Given the description of an element on the screen output the (x, y) to click on. 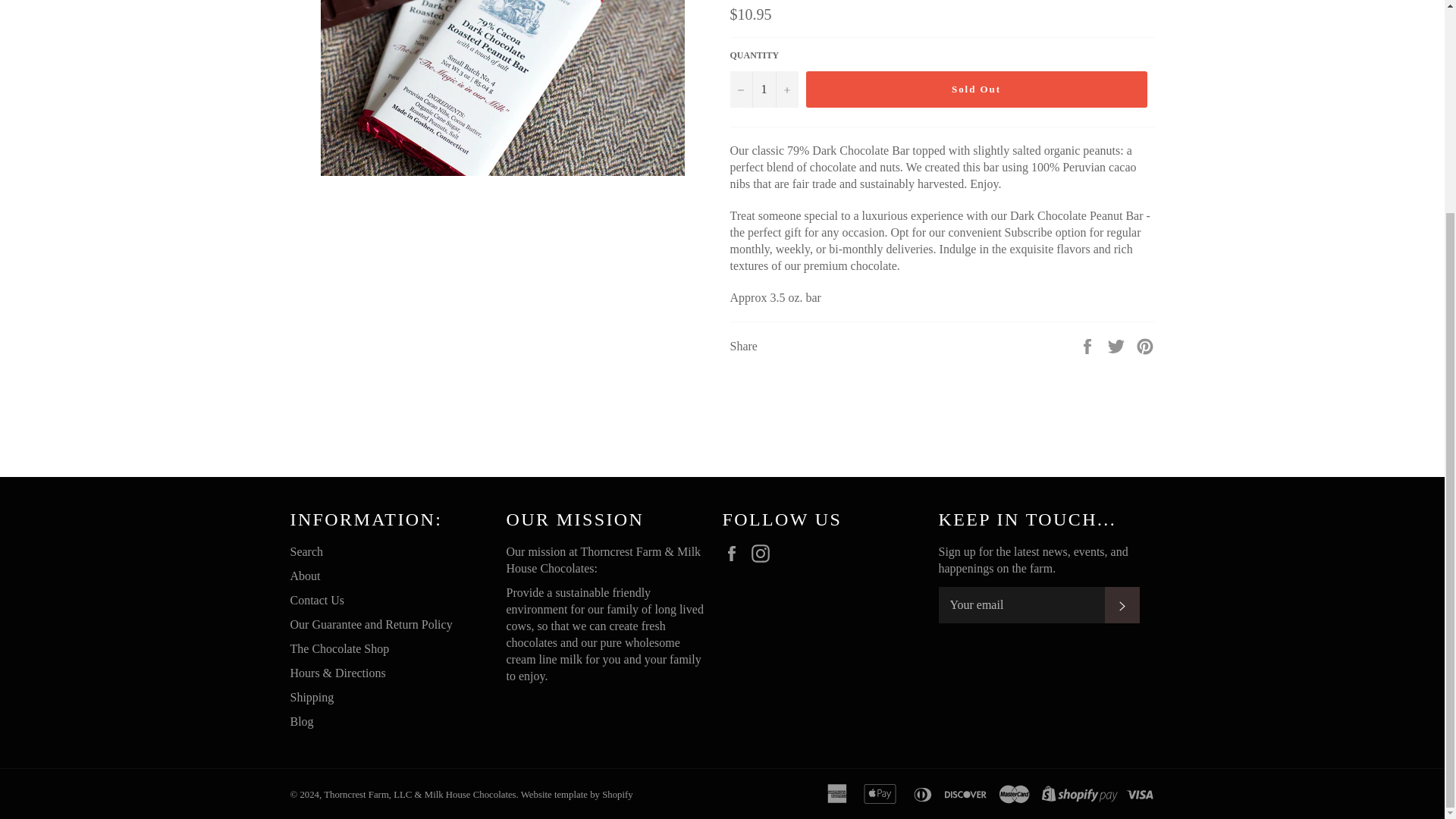
Pin on Pinterest (1144, 345)
1 (763, 89)
Share on Facebook (1088, 345)
Tweet on Twitter (1117, 345)
